Given the description of an element on the screen output the (x, y) to click on. 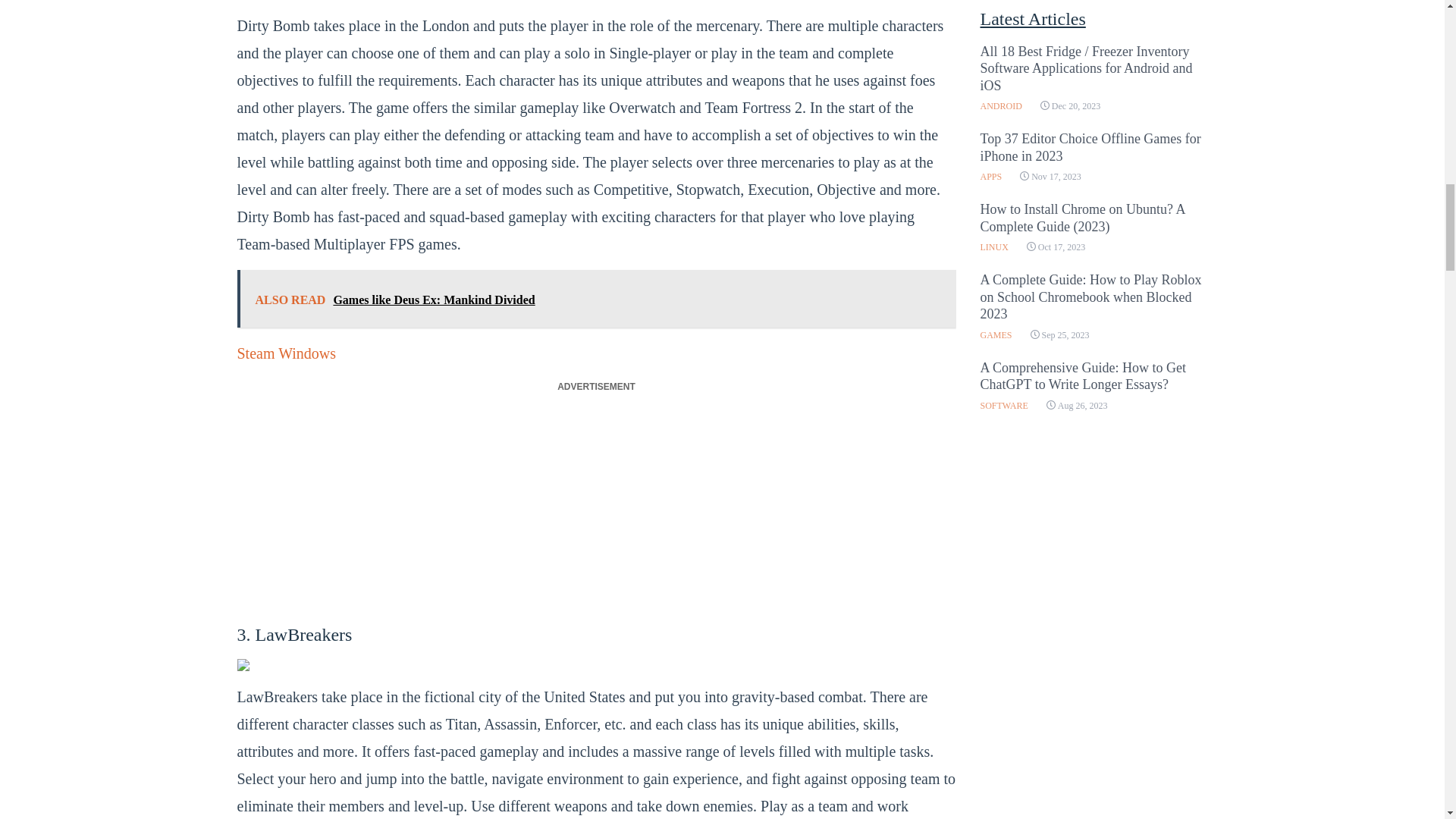
ALSO READ  Games like Deus Ex: Mankind Divided (595, 298)
Windows (307, 352)
Steam (255, 352)
